Given the description of an element on the screen output the (x, y) to click on. 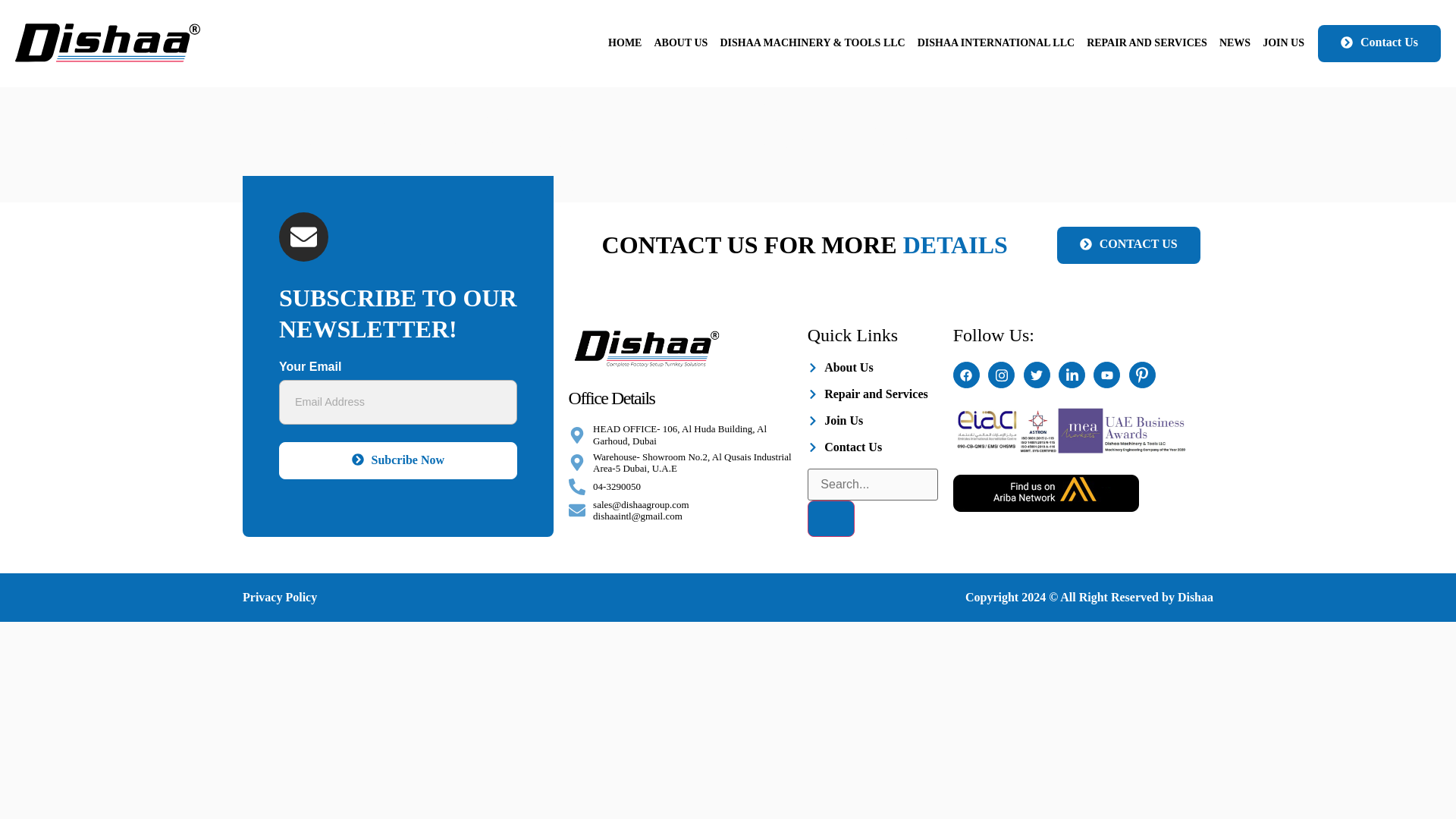
JOIN US (1283, 43)
REPAIR AND SERVICES (1146, 43)
About Us (872, 367)
ABOUT US (680, 43)
Privacy Policy (280, 596)
HOME (624, 43)
Repair and Services (872, 394)
DISHAA INTERNATIONAL LLC (995, 43)
Contact Us (872, 447)
Contact Us (1379, 43)
